Given the description of an element on the screen output the (x, y) to click on. 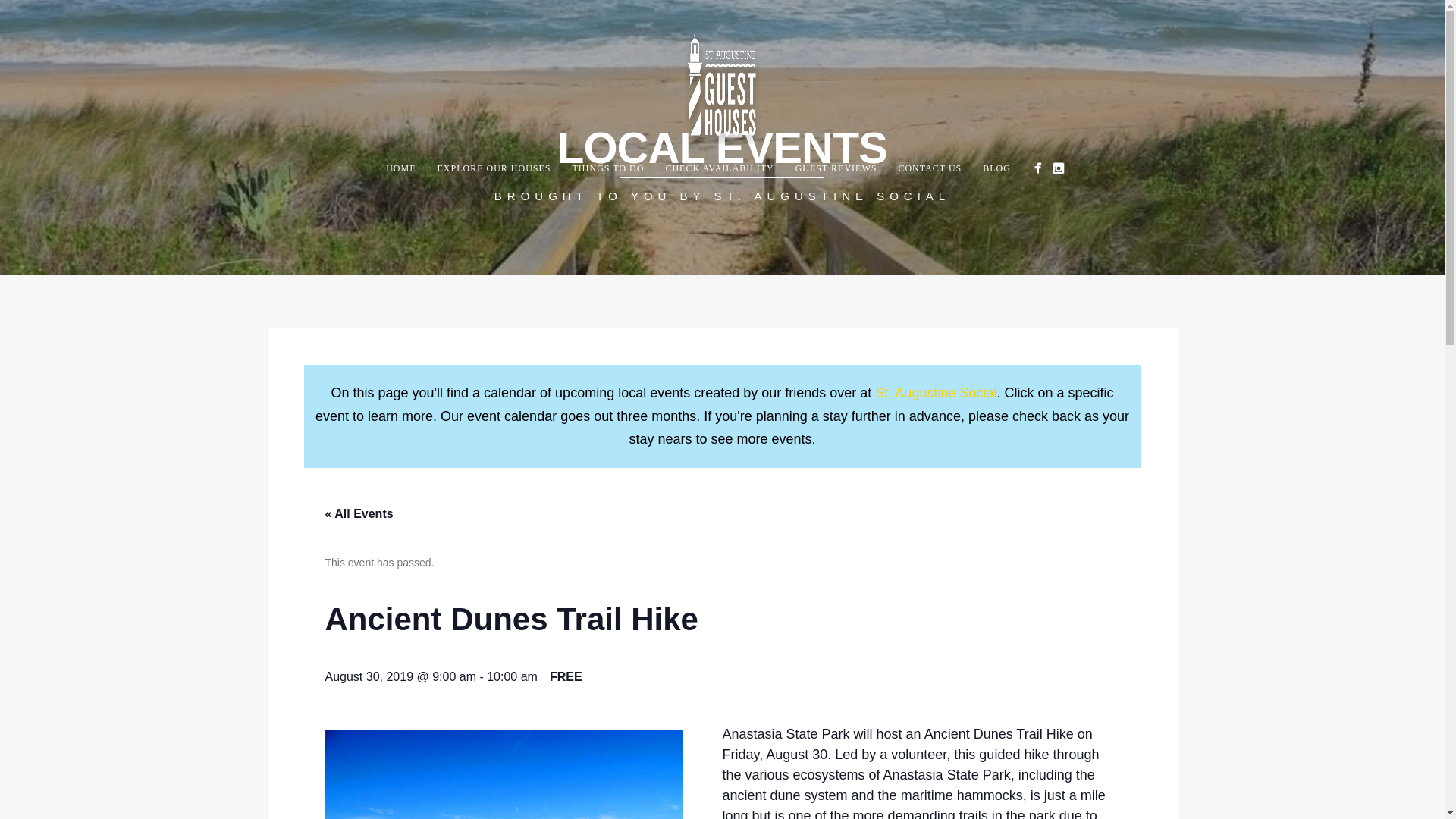
Instagram (1057, 167)
CONTACT US (929, 167)
BLOG (997, 167)
HOME (400, 167)
St. Augustine Social (935, 392)
CHECK AVAILABILITY (718, 167)
Facebook (1036, 167)
GUEST REVIEWS (836, 167)
THINGS TO DO (608, 167)
EXPLORE OUR HOUSES (493, 167)
